Given the description of an element on the screen output the (x, y) to click on. 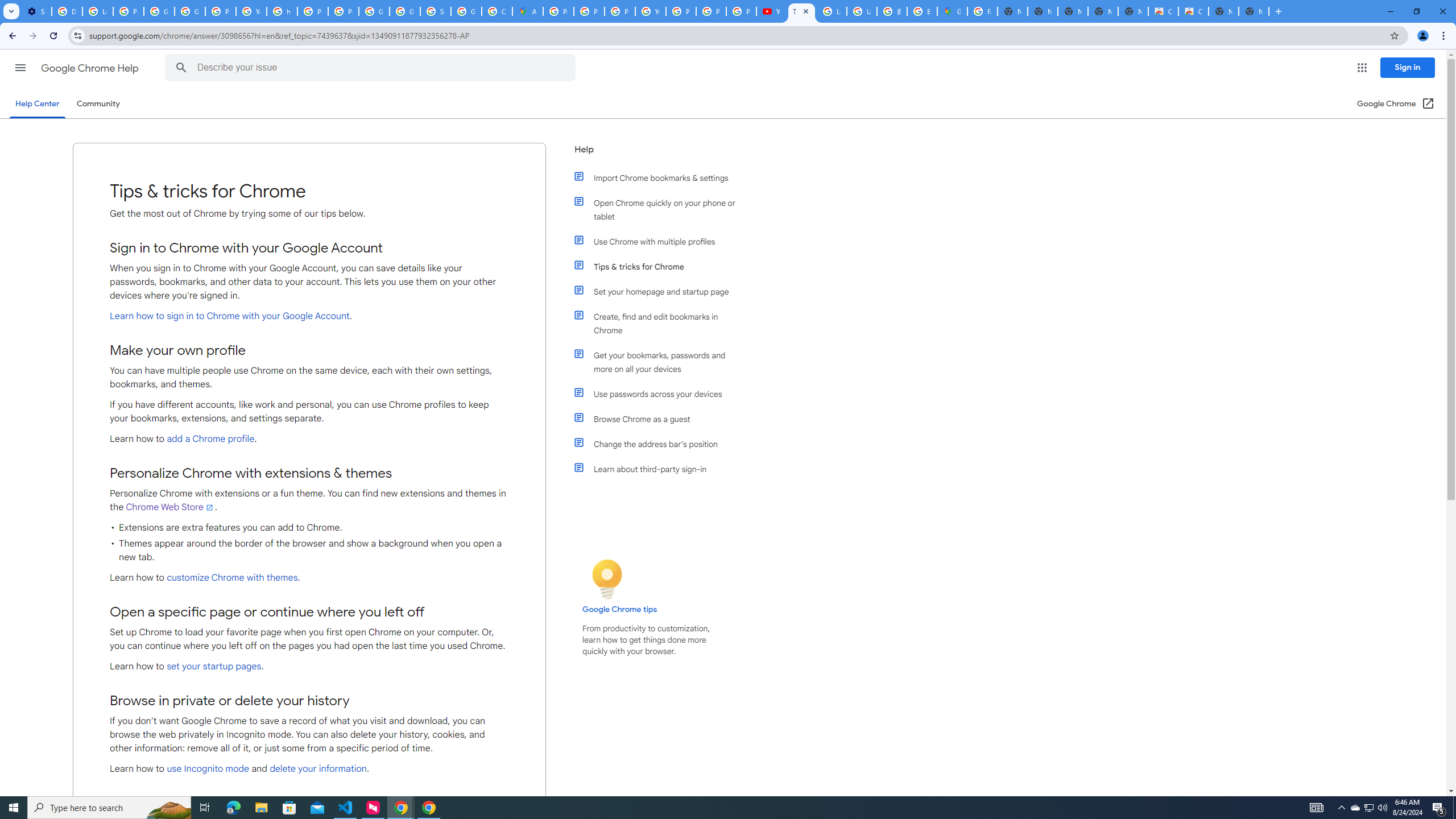
Tips & tricks for Chrome - Google Chrome Help (801, 11)
Browse Chrome as a guest (661, 419)
YouTube (771, 11)
